Given the description of an element on the screen output the (x, y) to click on. 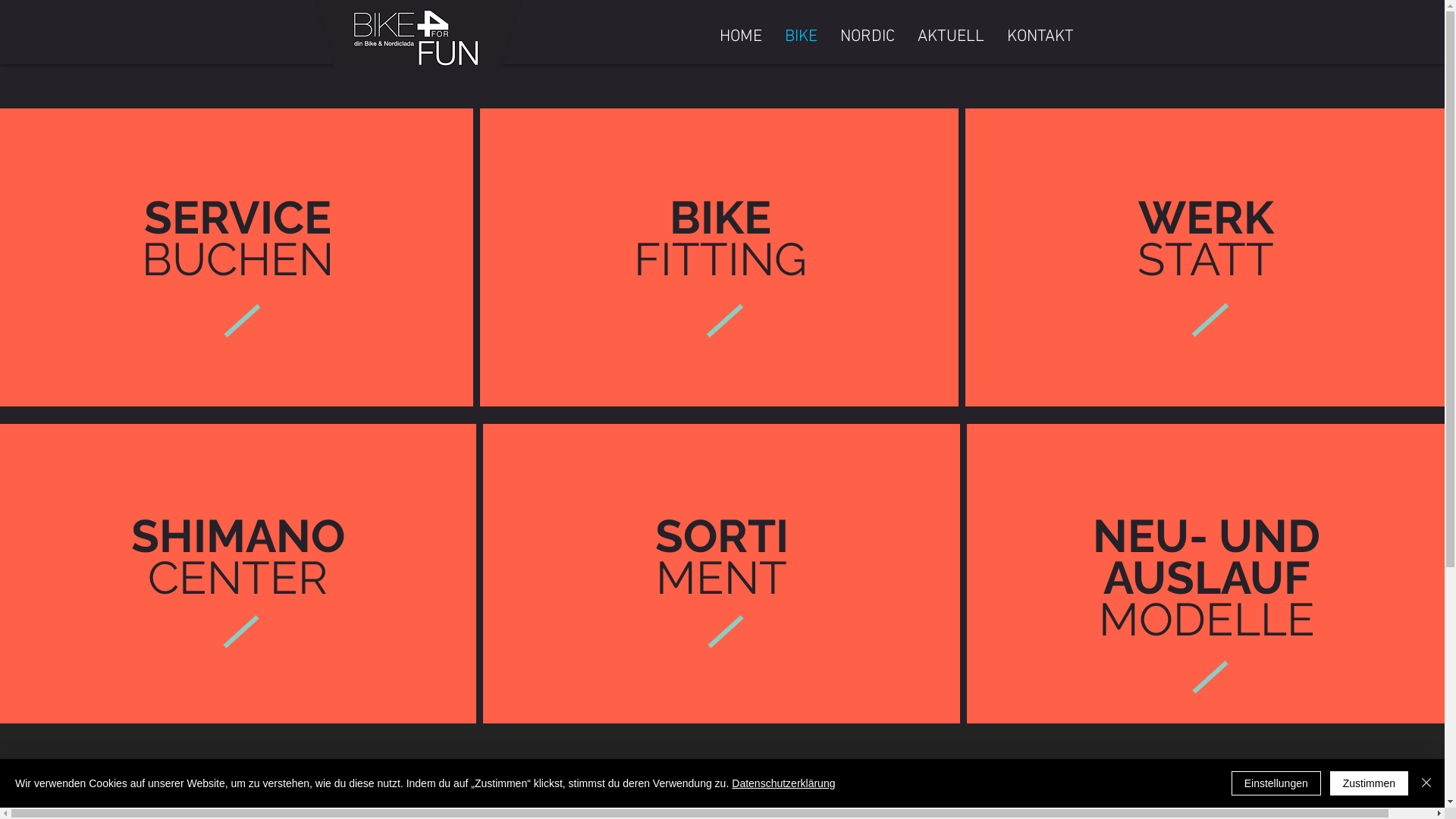
Einstellungen Element type: text (1276, 783)
HOME Element type: text (740, 37)
Zustimmen Element type: text (1369, 783)
AKTUELL Element type: text (949, 37)
NORDIC Element type: text (866, 37)
KONTAKT Element type: text (1039, 37)
BIKE Element type: text (800, 37)
